Given the description of an element on the screen output the (x, y) to click on. 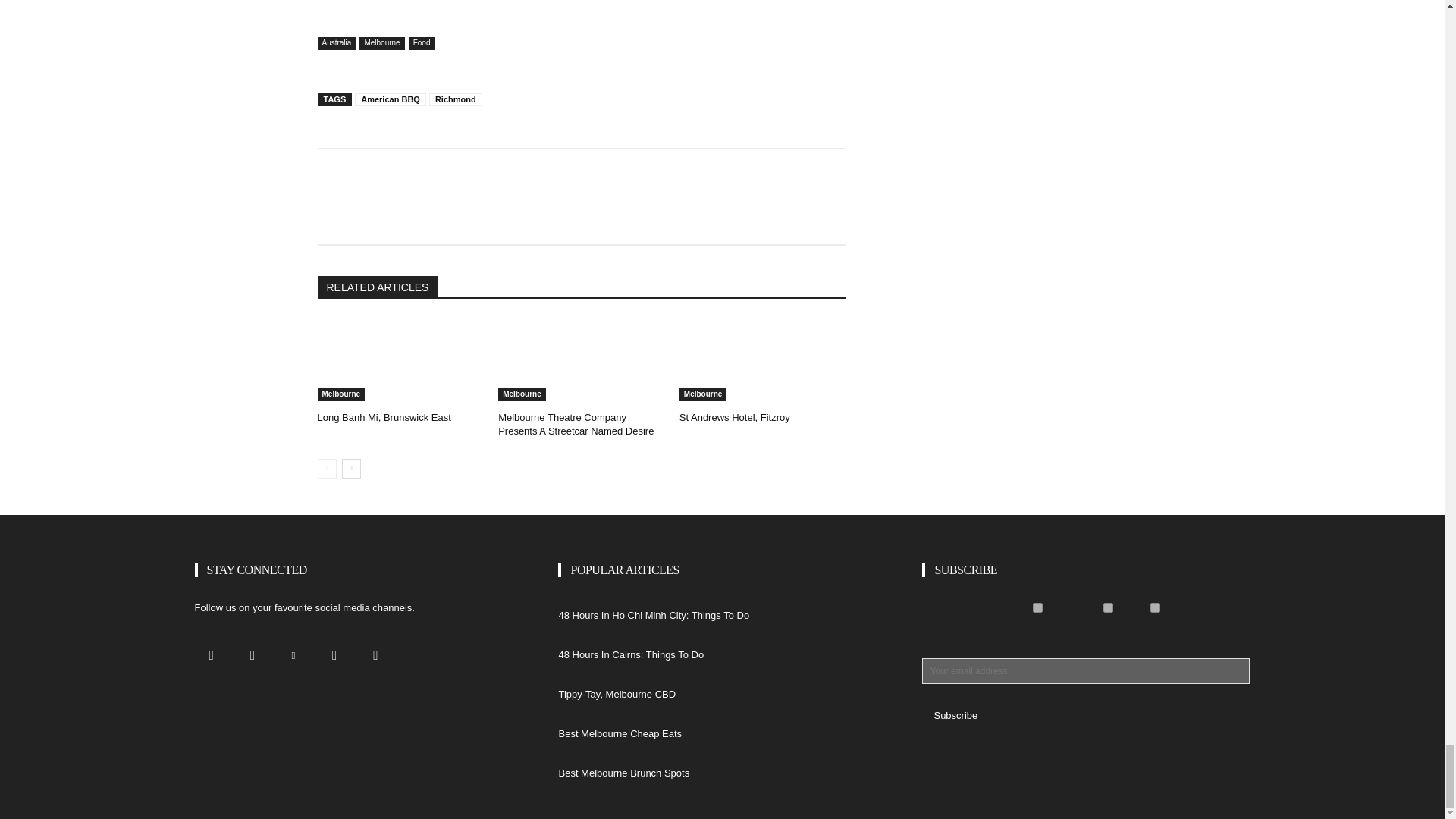
a995738985 (1155, 607)
Subscribe (954, 715)
aa99556239 (1108, 607)
becaa84307 (1037, 607)
